Given the description of an element on the screen output the (x, y) to click on. 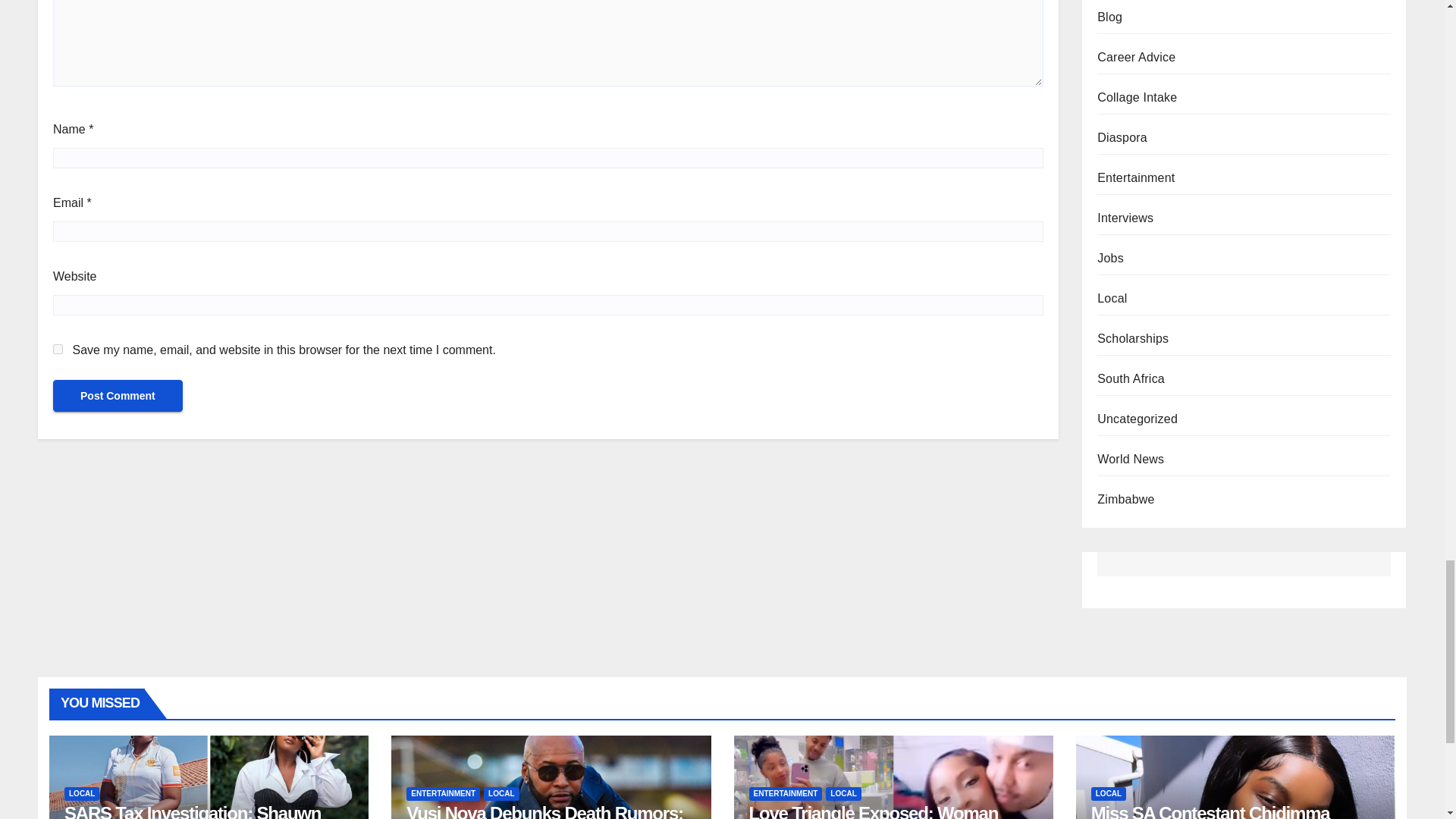
yes (57, 348)
Post Comment (117, 395)
